Given the description of an element on the screen output the (x, y) to click on. 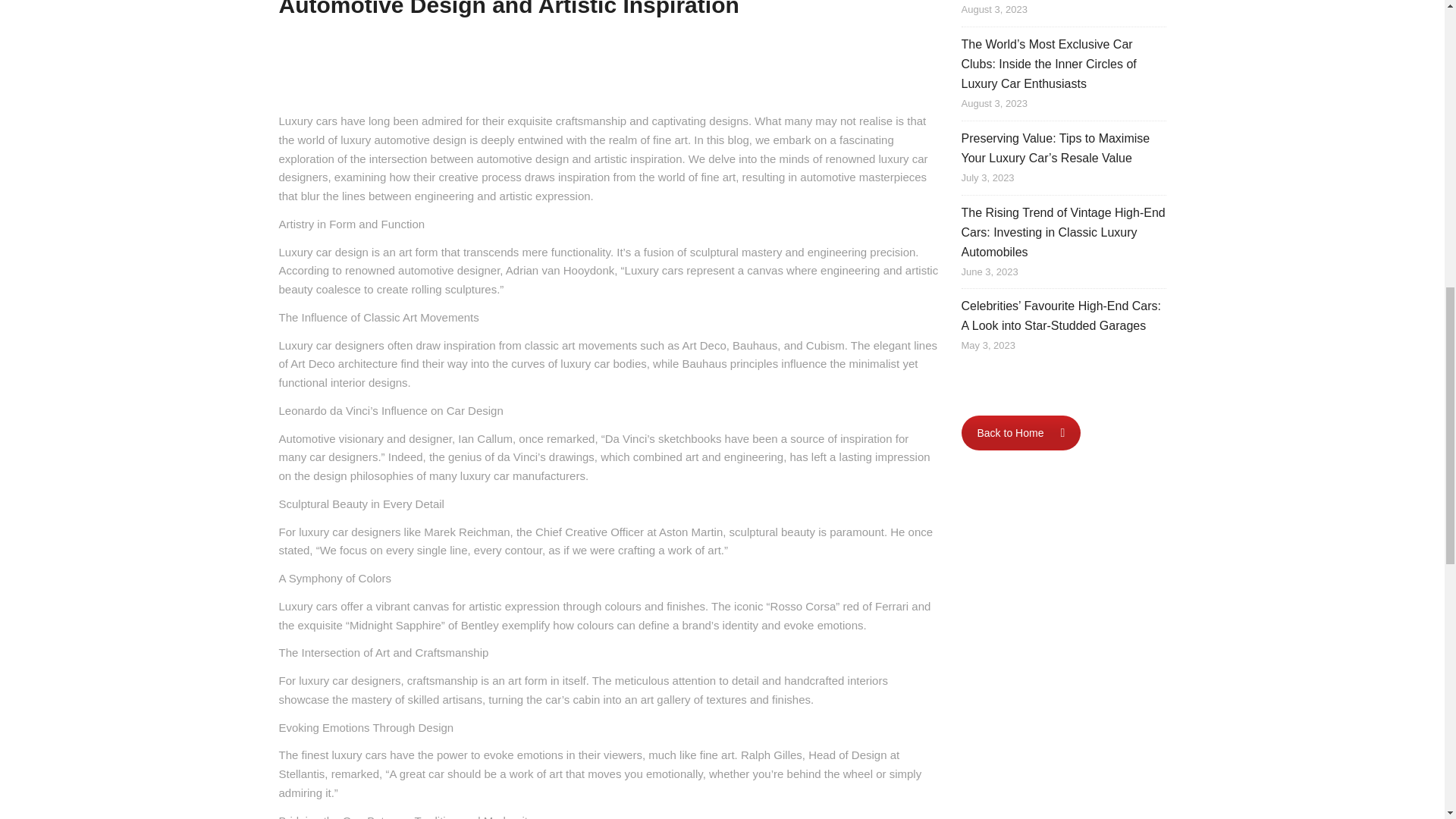
Back to Home (1020, 432)
